Given the description of an element on the screen output the (x, y) to click on. 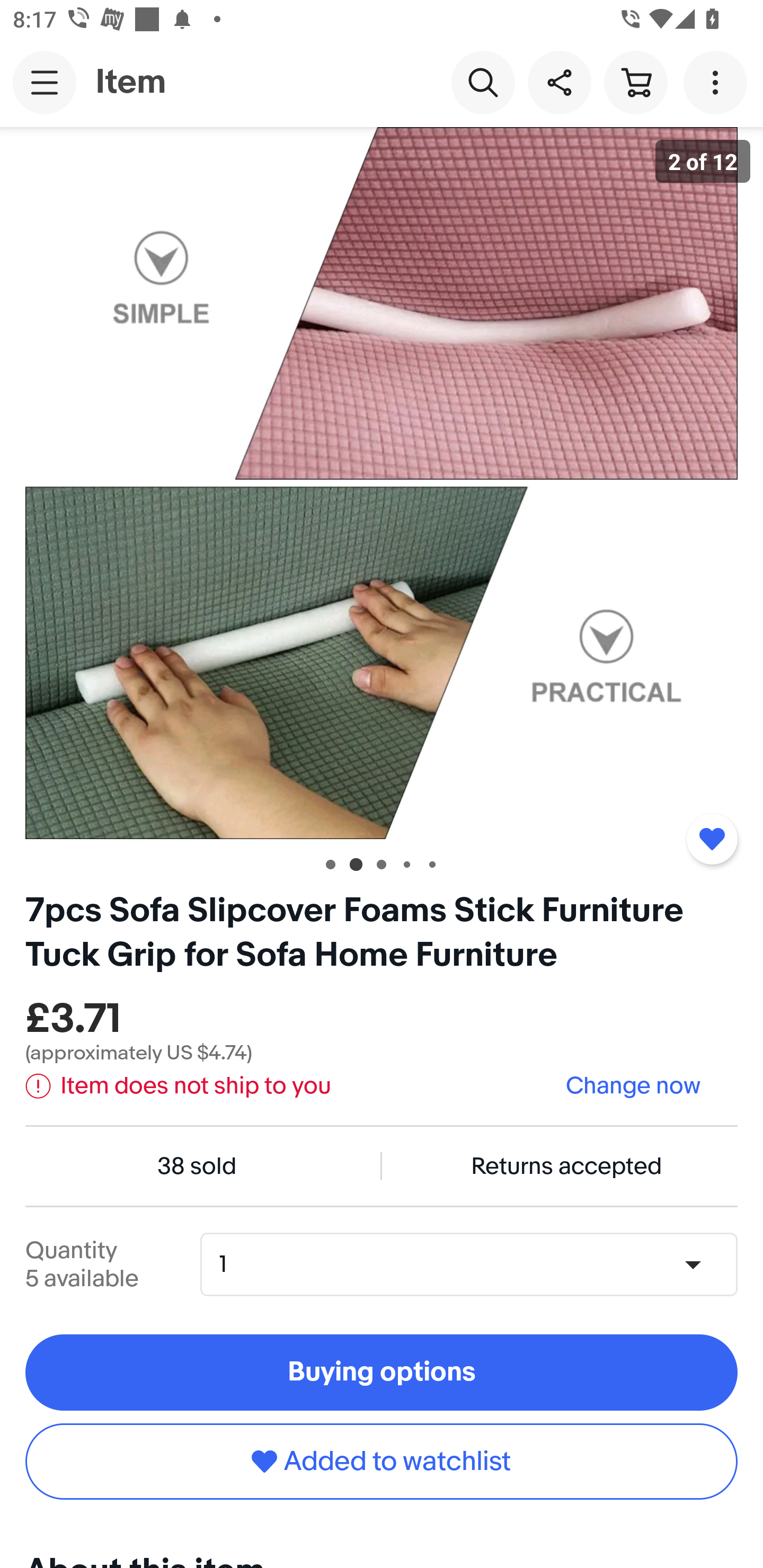
Main navigation, open (44, 82)
Search (482, 81)
Share this item (559, 81)
Cart button shopping cart (635, 81)
More options (718, 81)
Item image 2 of 12 (381, 482)
Added to watchlist (711, 838)
Quantity,1,5 available 1 (474, 1264)
Buying options (381, 1372)
Added to watchlist (381, 1461)
